Given the description of an element on the screen output the (x, y) to click on. 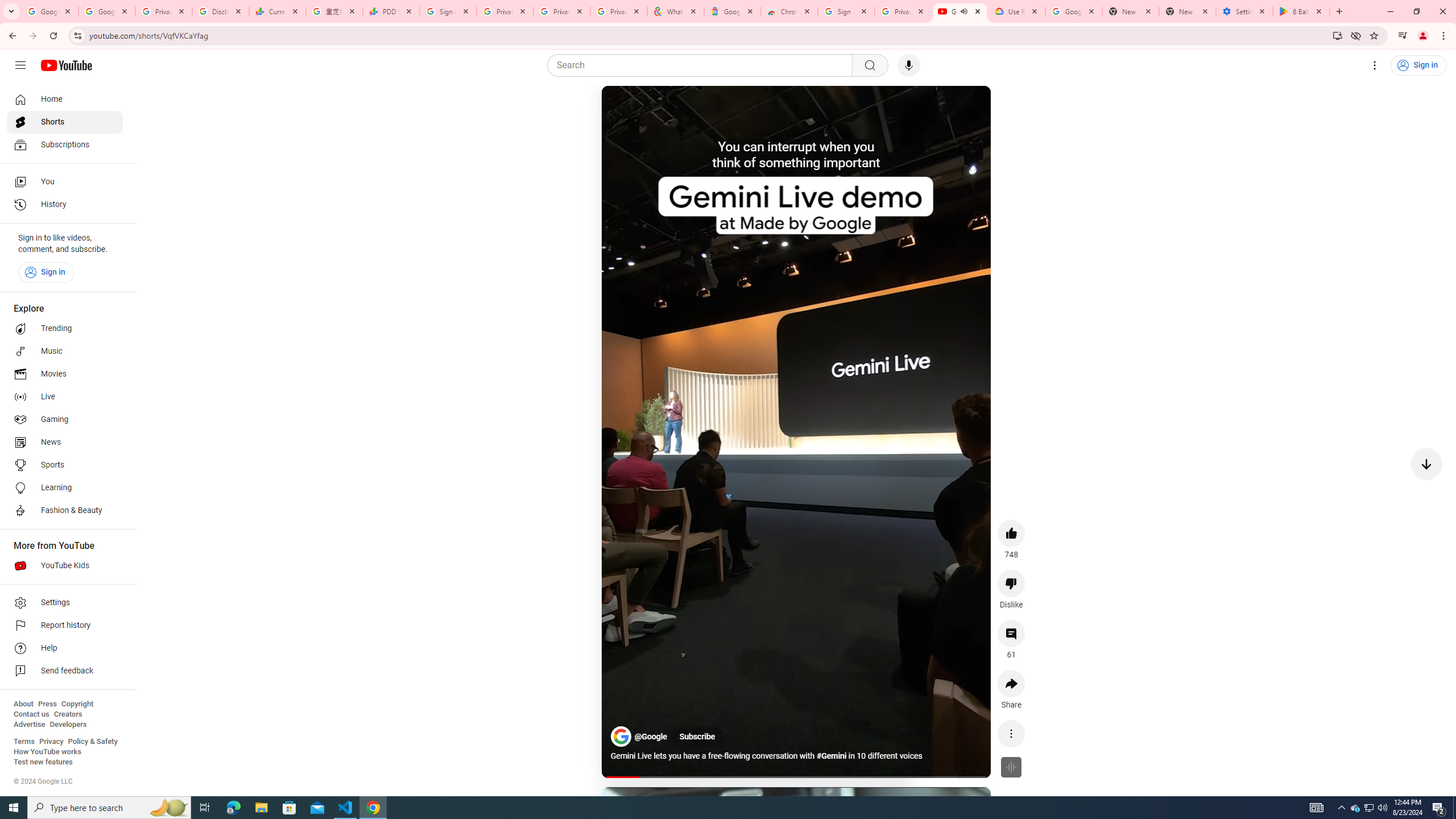
Currencies - Google Finance (277, 11)
Seek slider (796, 776)
Mute (660, 108)
Subscribe (697, 736)
